Given the description of an element on the screen output the (x, y) to click on. 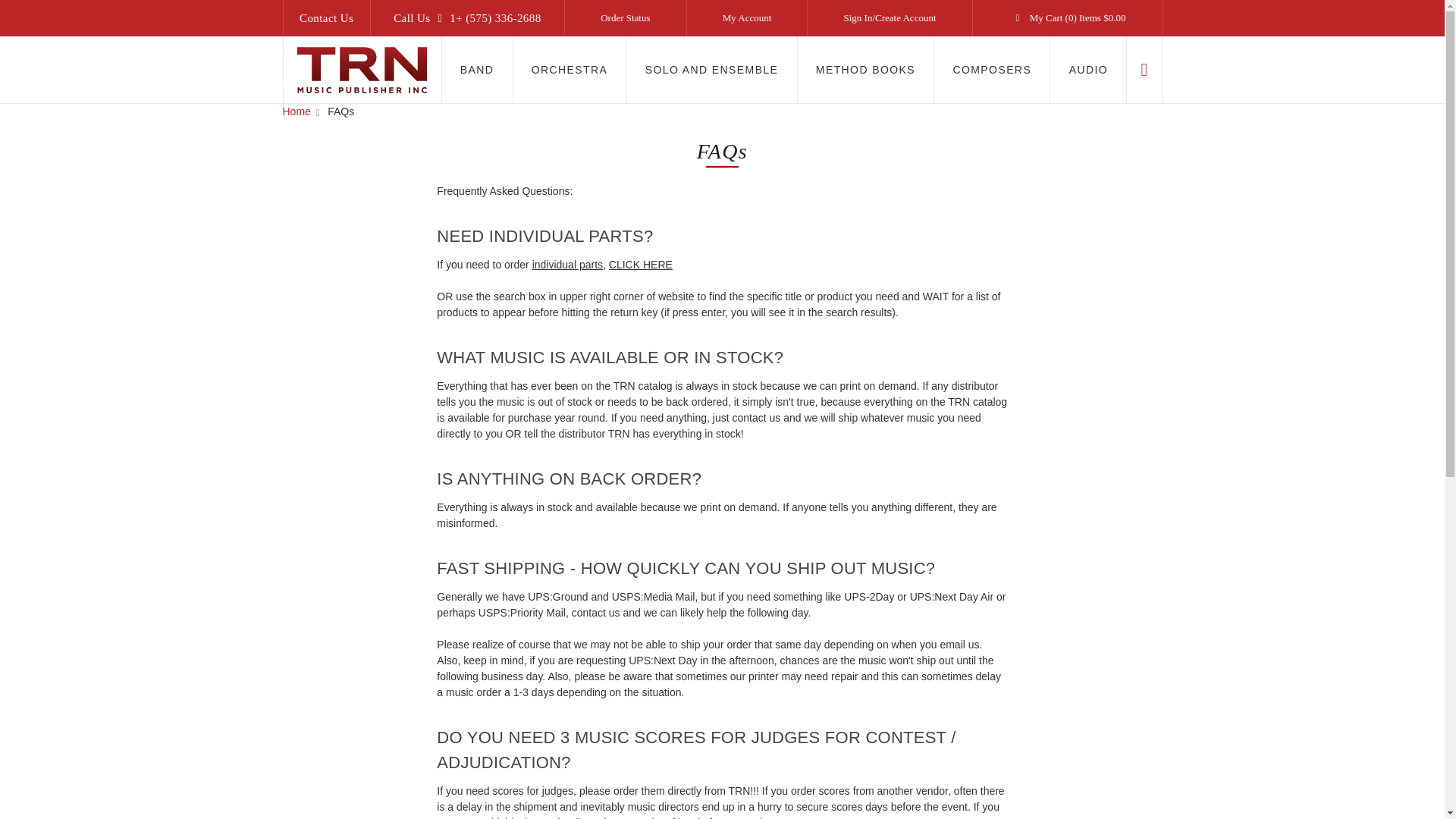
My Account (747, 18)
BAND (476, 69)
AUDIO (1087, 69)
Order Status (624, 18)
TRN Music Publisher (361, 69)
Contact Us (325, 18)
ORCHESTRA (570, 69)
SOLO AND ENSEMBLE (712, 69)
COMPOSERS (991, 69)
METHOD BOOKS (865, 69)
